Given the description of an element on the screen output the (x, y) to click on. 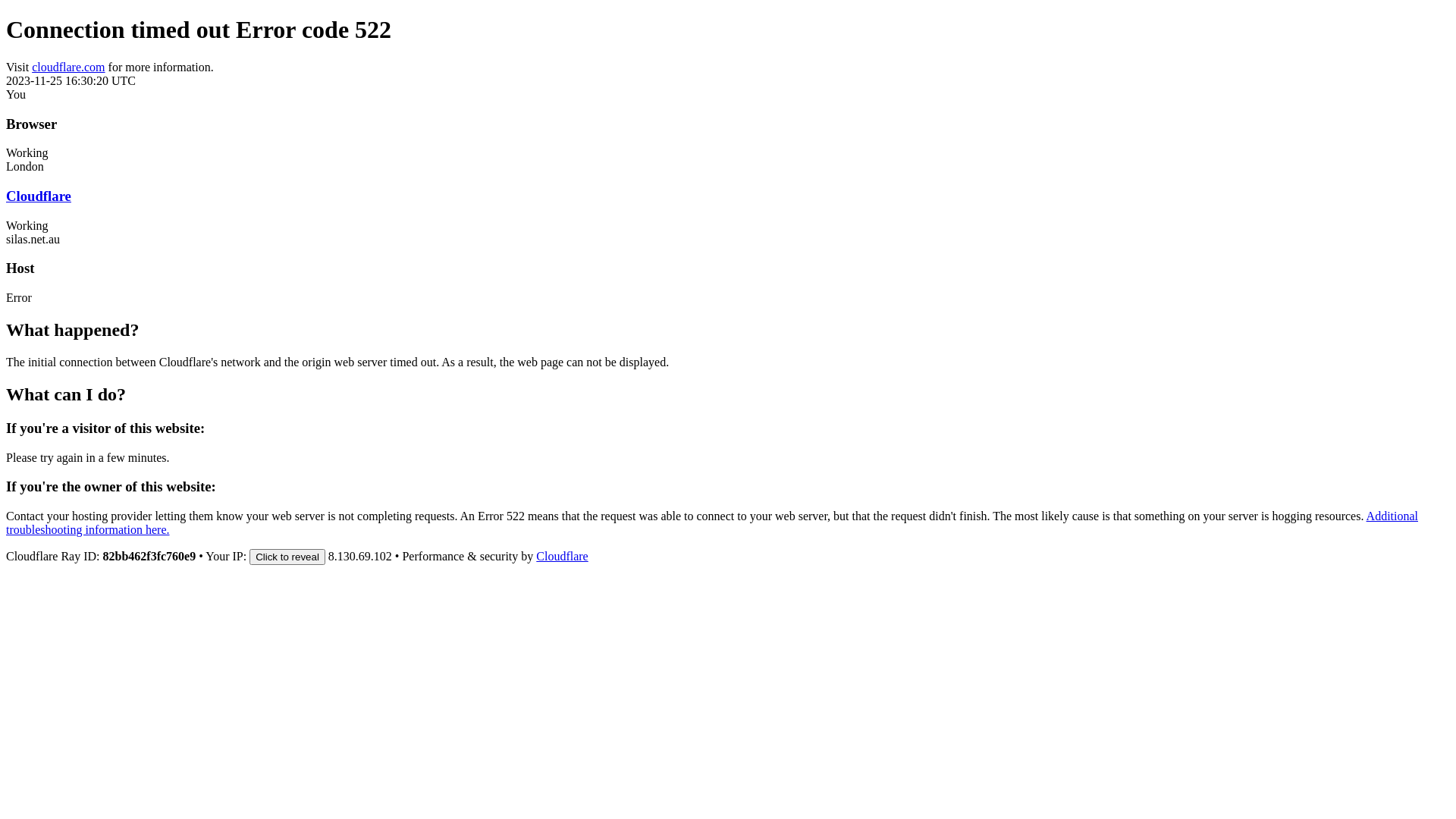
Click to reveal Element type: text (287, 556)
Cloudflare Element type: text (38, 195)
cloudflare.com Element type: text (67, 66)
Cloudflare Element type: text (561, 555)
Additional troubleshooting information here. Element type: text (712, 522)
